Given the description of an element on the screen output the (x, y) to click on. 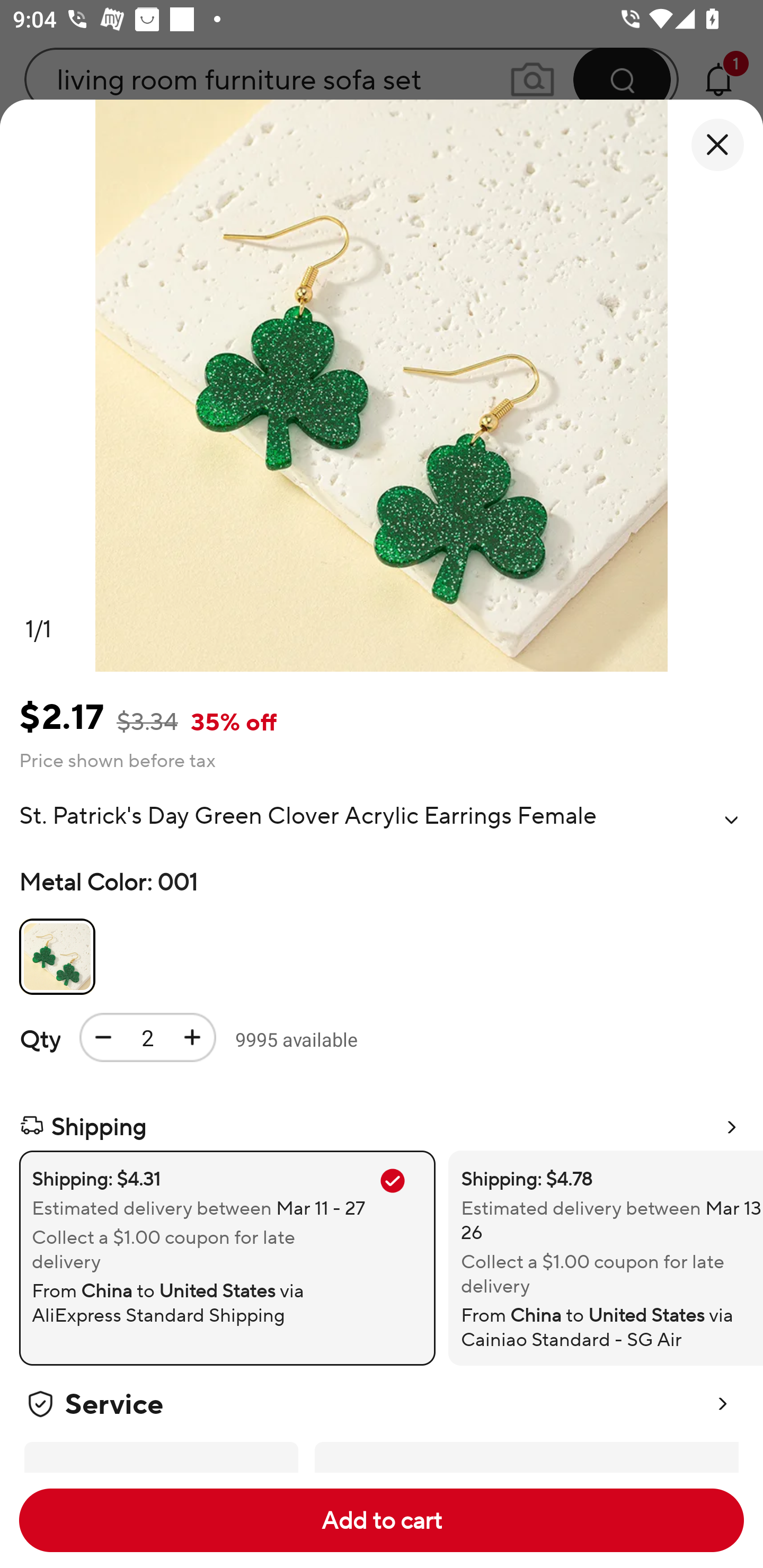
close  (717, 144)
 (730, 819)
Add to cart (381, 1520)
